Given the description of an element on the screen output the (x, y) to click on. 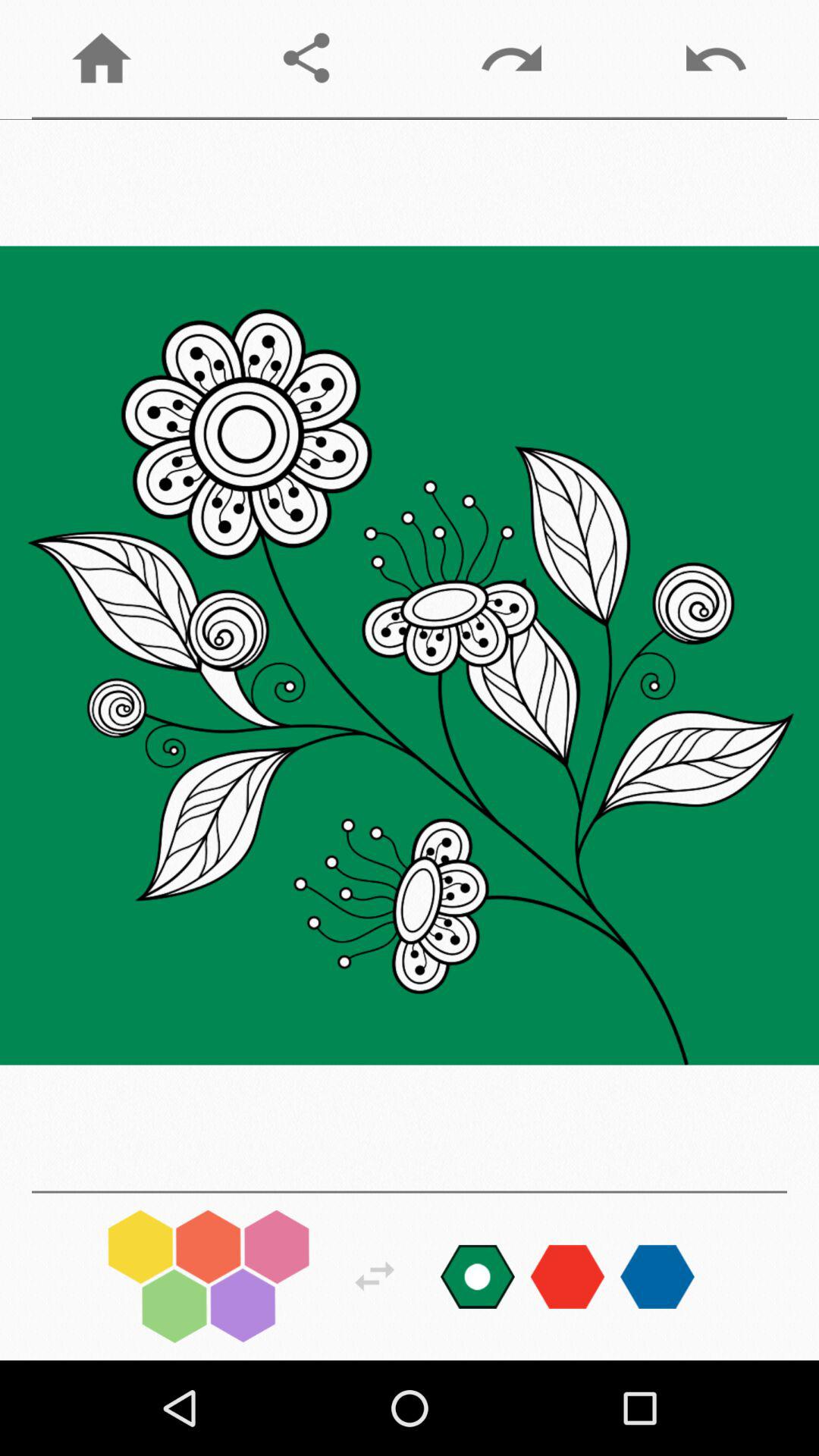
go to review (374, 1276)
